Given the description of an element on the screen output the (x, y) to click on. 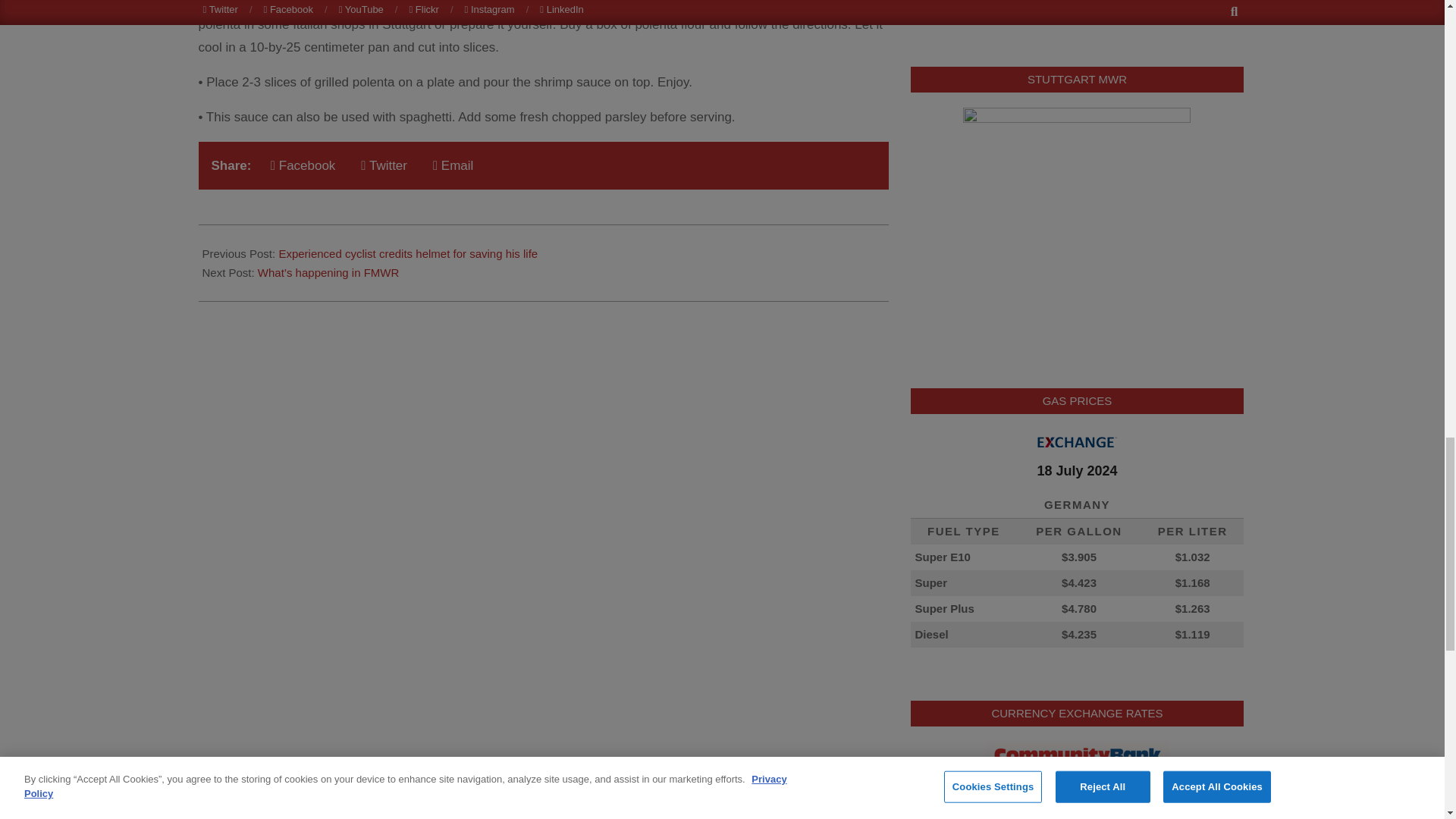
Share via Email (452, 165)
View more events. (974, 16)
Share on Twitter (384, 165)
Share on Facebook (302, 165)
